Given the description of an element on the screen output the (x, y) to click on. 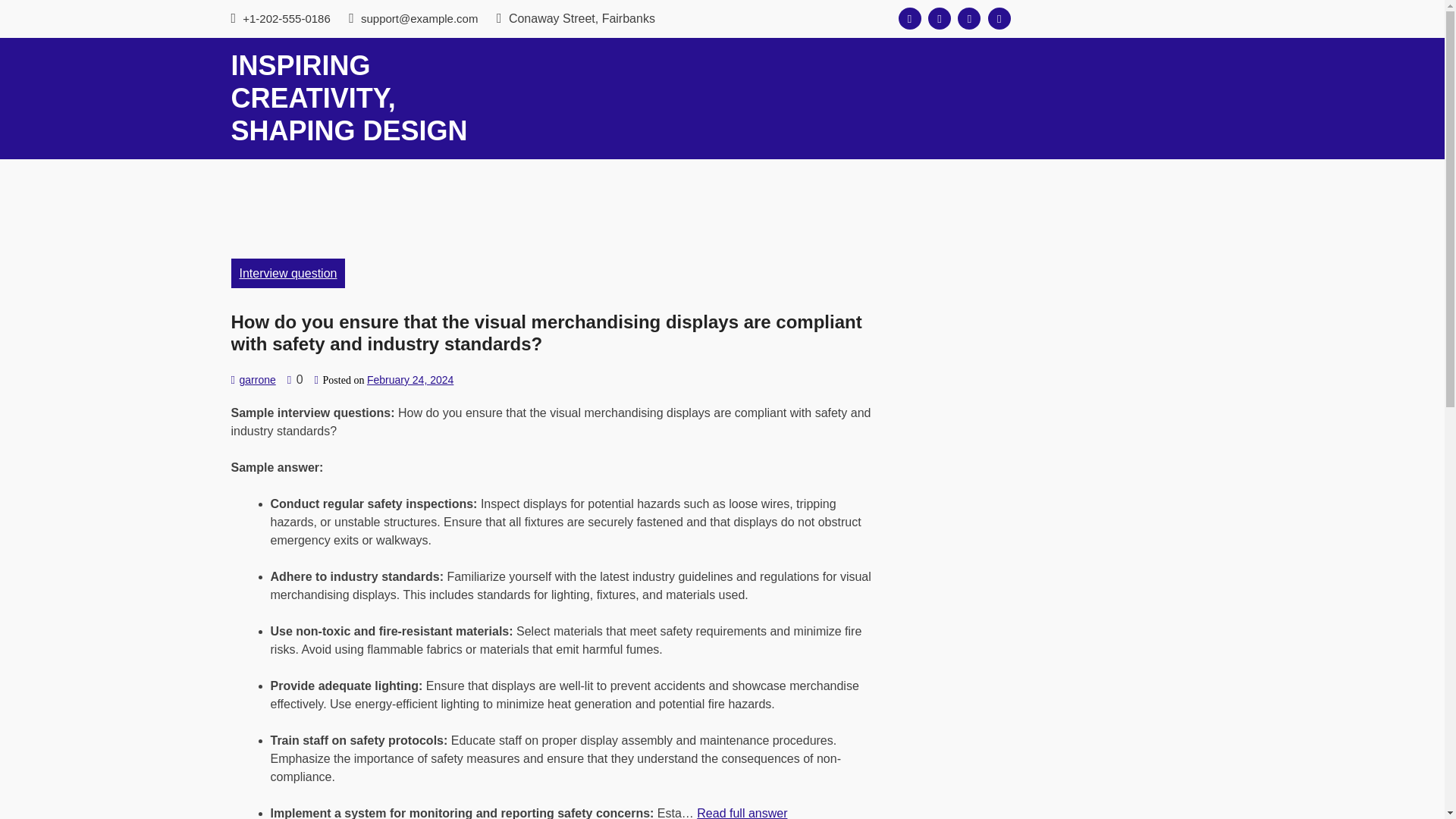
Read full answer (742, 812)
INSPIRING CREATIVITY, SHAPING DESIGN (348, 97)
Inspiring Creativity, Shaping Design (348, 97)
February 24, 2024 (409, 379)
Interview question (287, 273)
garrone (256, 379)
